Given the description of an element on the screen output the (x, y) to click on. 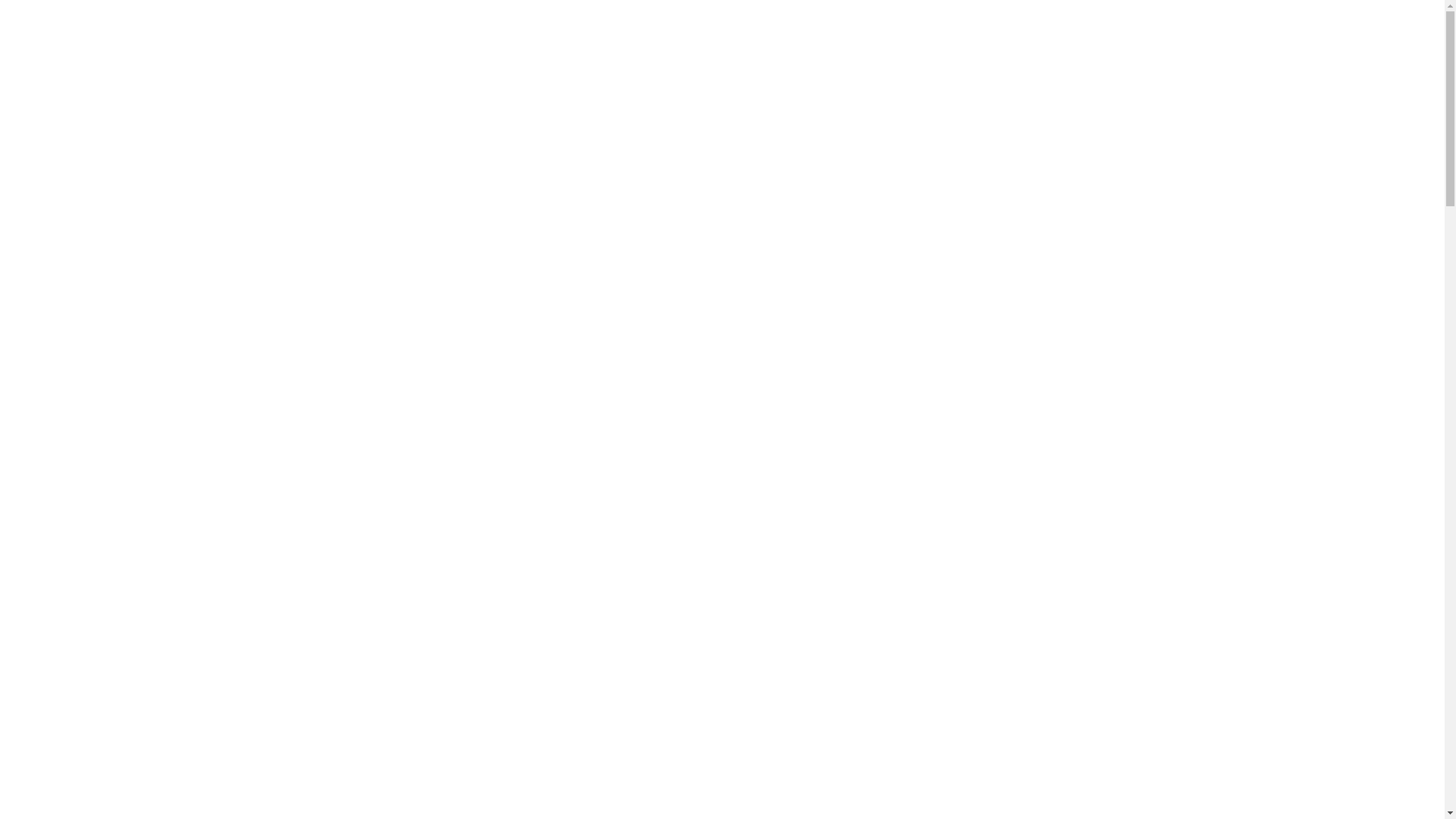
FAQ Element type: text (955, 69)
PRIME Element type: text (743, 17)
EN Element type: text (791, 17)
